Given the description of an element on the screen output the (x, y) to click on. 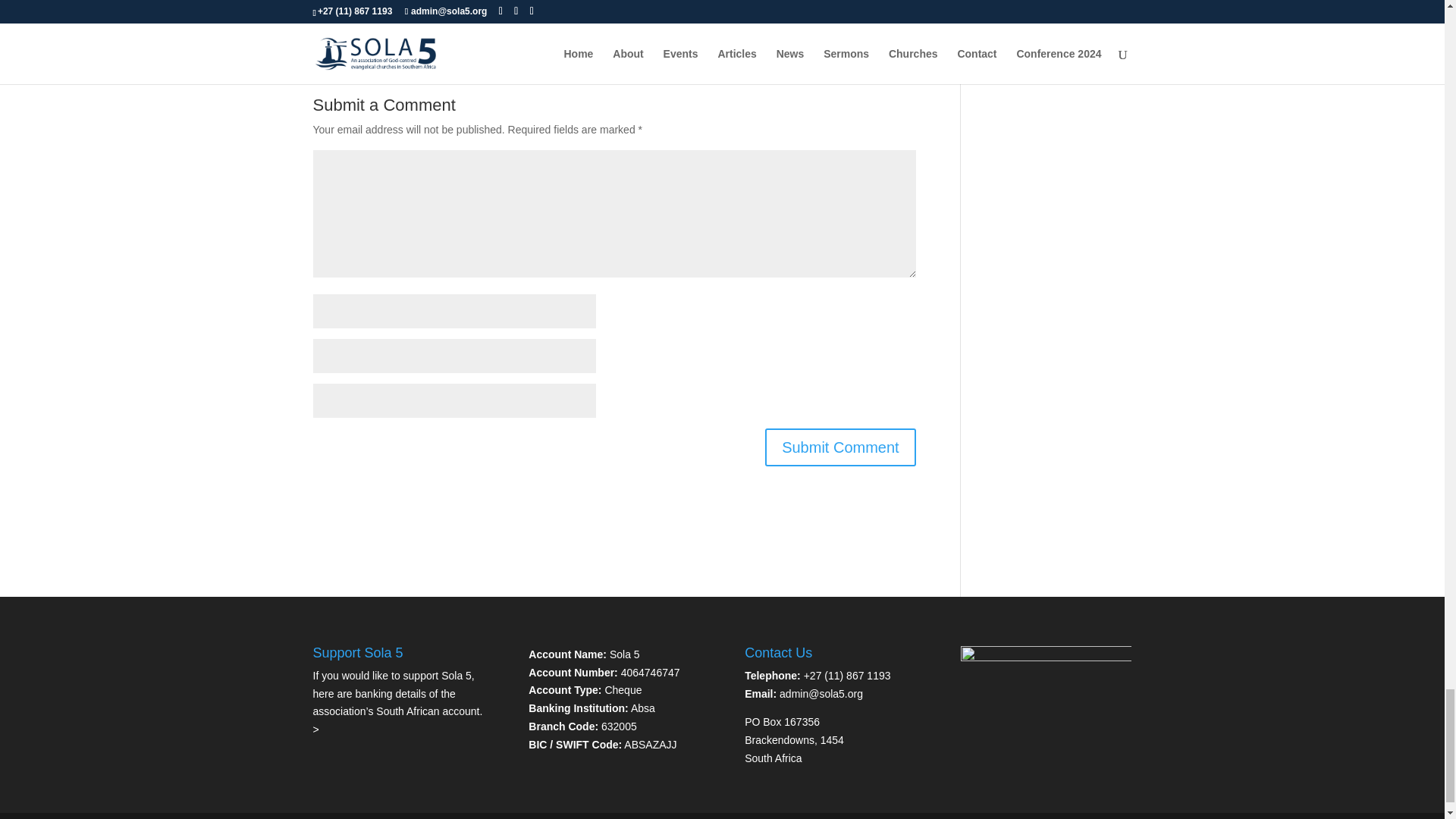
Submit Comment (840, 447)
on Twitter (437, 20)
on Facebook (522, 20)
